Given the description of an element on the screen output the (x, y) to click on. 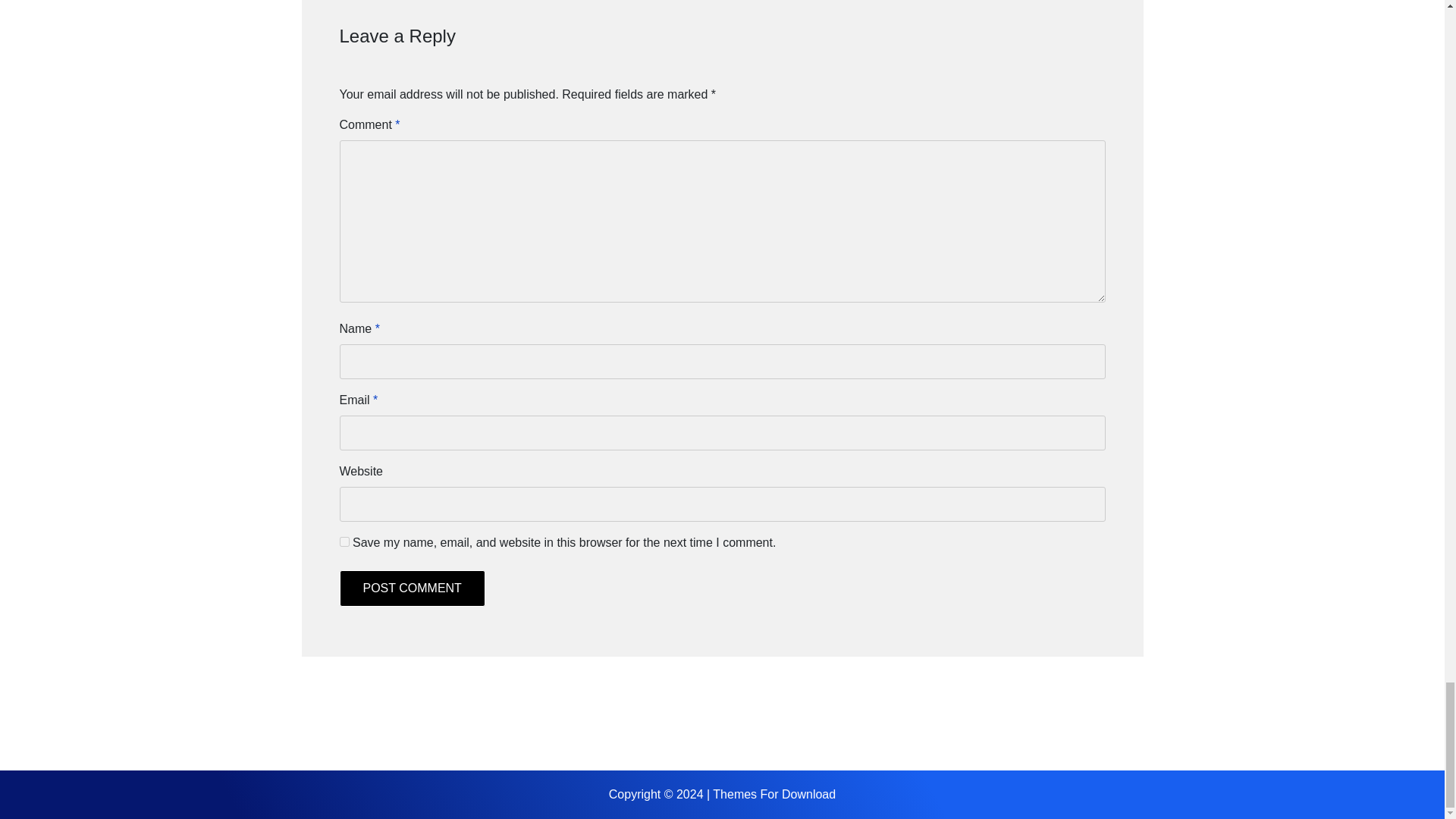
Post Comment (411, 588)
Post Comment (411, 588)
yes (344, 542)
